Given the description of an element on the screen output the (x, y) to click on. 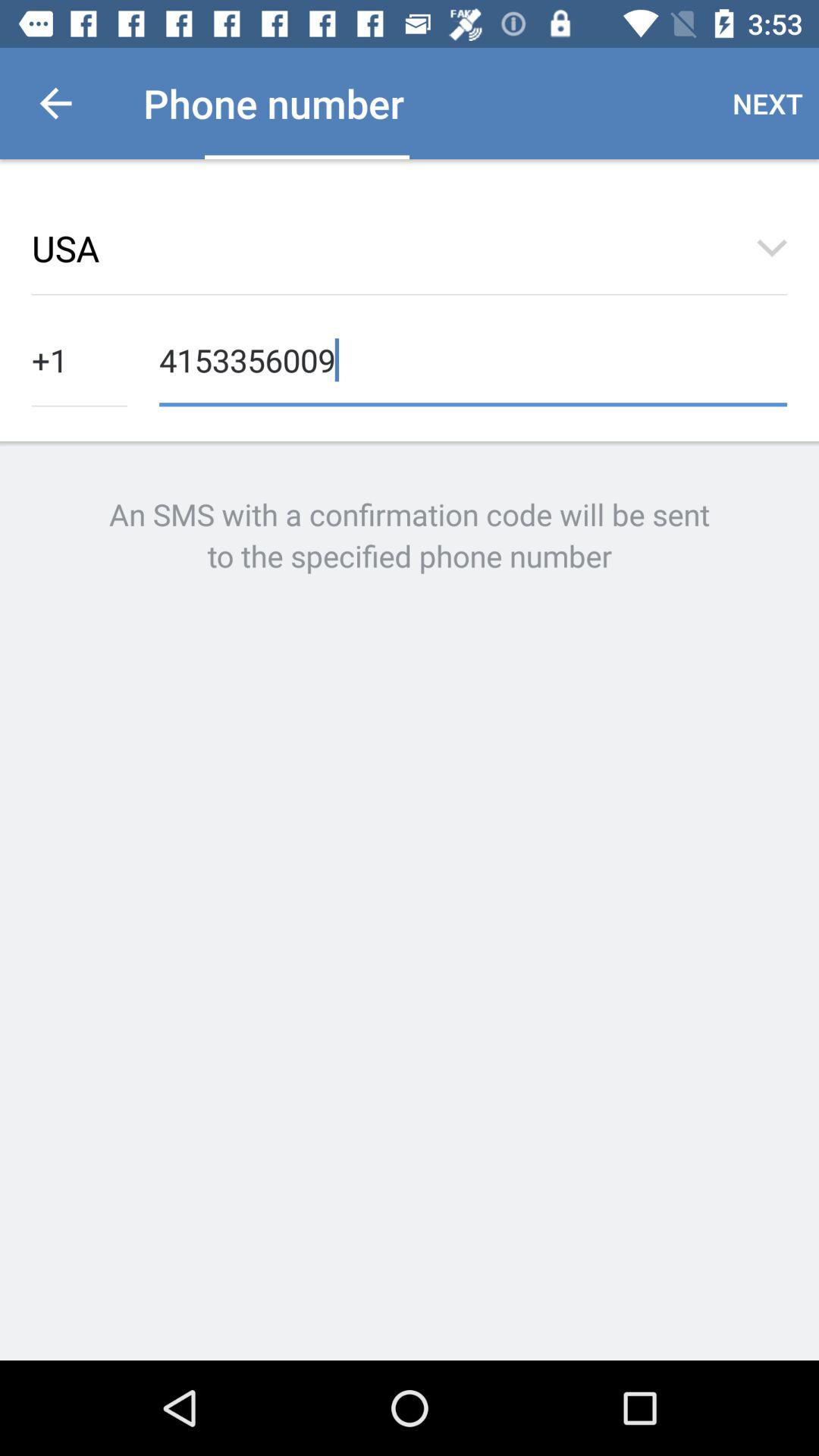
select the icon next to +1 item (473, 358)
